Given the description of an element on the screen output the (x, y) to click on. 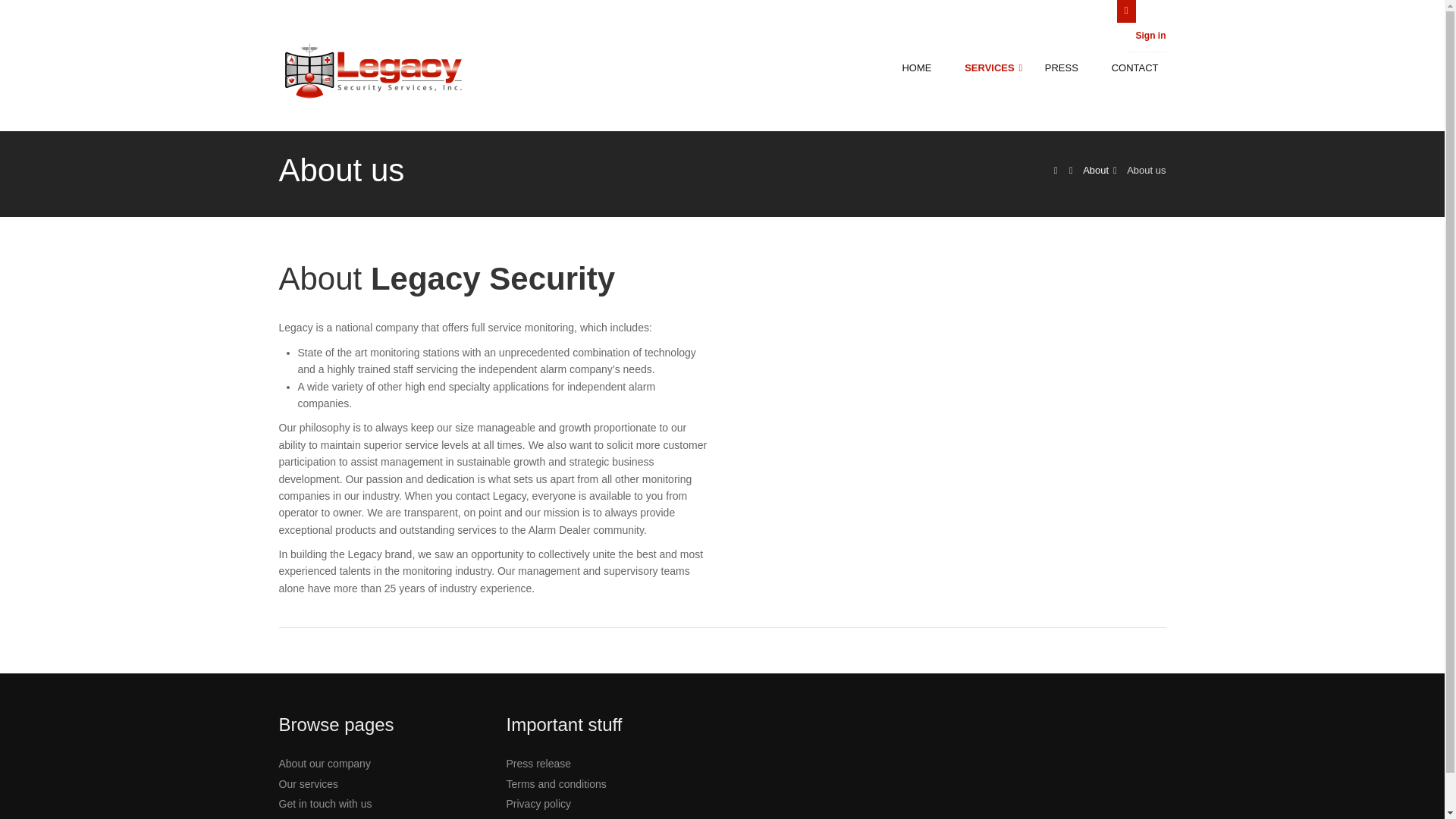
About (1095, 170)
About our company (325, 763)
Sign in (1150, 35)
Press release (539, 763)
HOME (925, 68)
Terms and conditions (556, 784)
Our services (309, 784)
Get in touch with us (325, 803)
SERVICES (996, 68)
Privacy policy (539, 803)
